Given the description of an element on the screen output the (x, y) to click on. 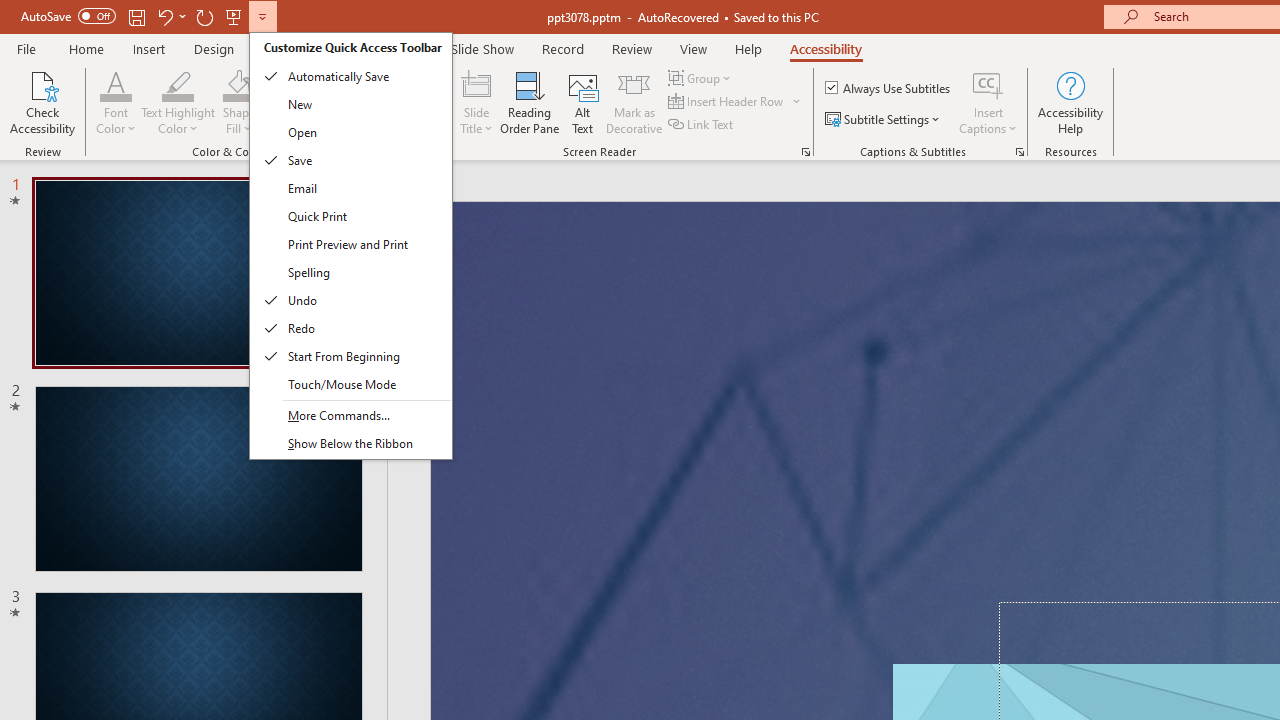
Screen Reader (805, 151)
Insert Captions (988, 84)
Captions & Subtitles (1019, 151)
Insert Captions (988, 102)
Insert Header Row (727, 101)
Link Text (702, 124)
Accessibility Help (1070, 102)
